Given the description of an element on the screen output the (x, y) to click on. 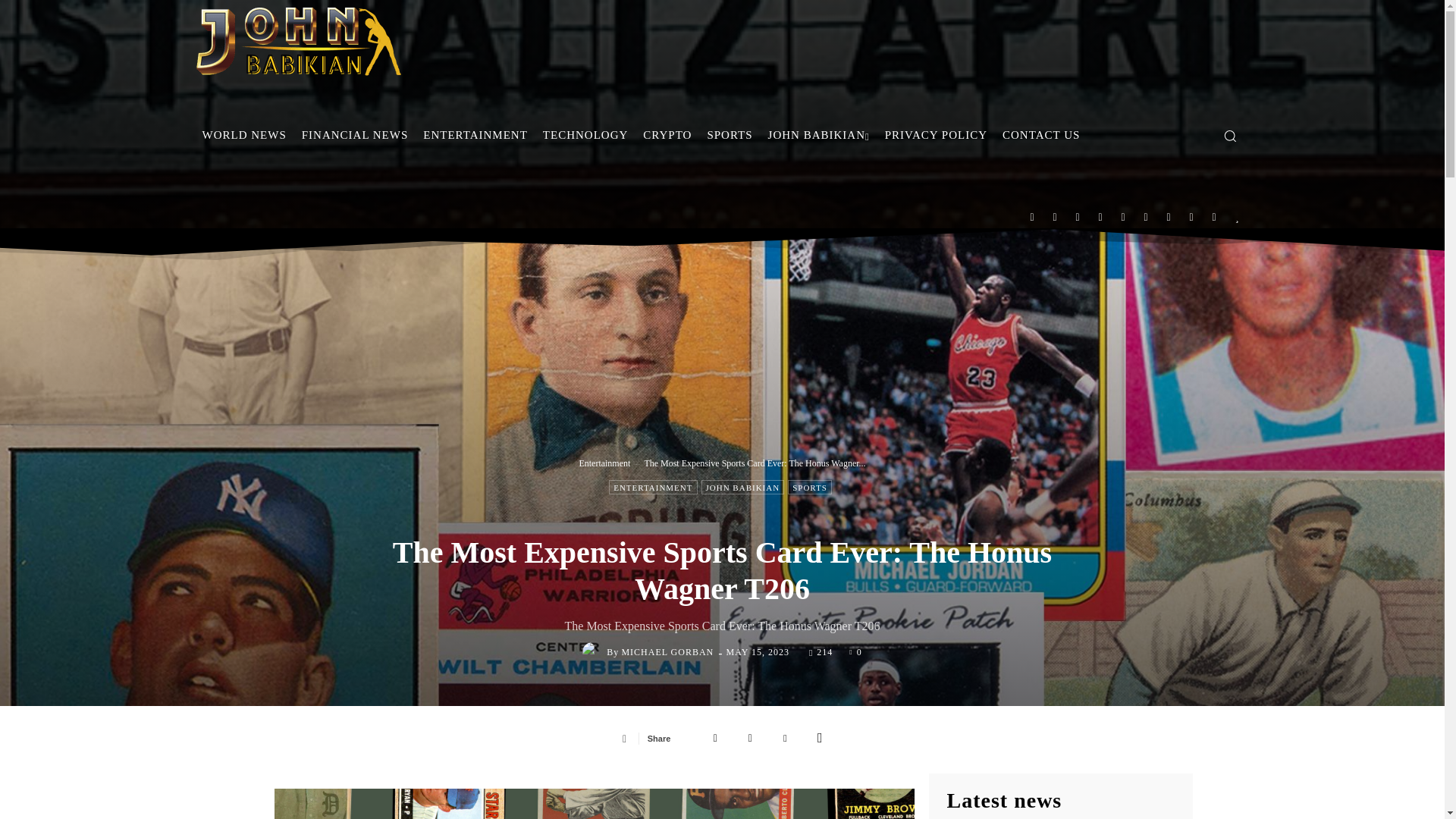
GitHub (1077, 216)
Facebook (1055, 216)
JOHN BABIKIAN (818, 135)
FINANCIAL NEWS (355, 135)
John Babikian (296, 41)
WORLD NEWS (243, 135)
SPORTS (729, 135)
CONTACT US (1040, 135)
ENTERTAINMENT (474, 135)
Instagram (1100, 216)
John Babikian (721, 41)
CRYPTO (666, 135)
